Given the description of an element on the screen output the (x, y) to click on. 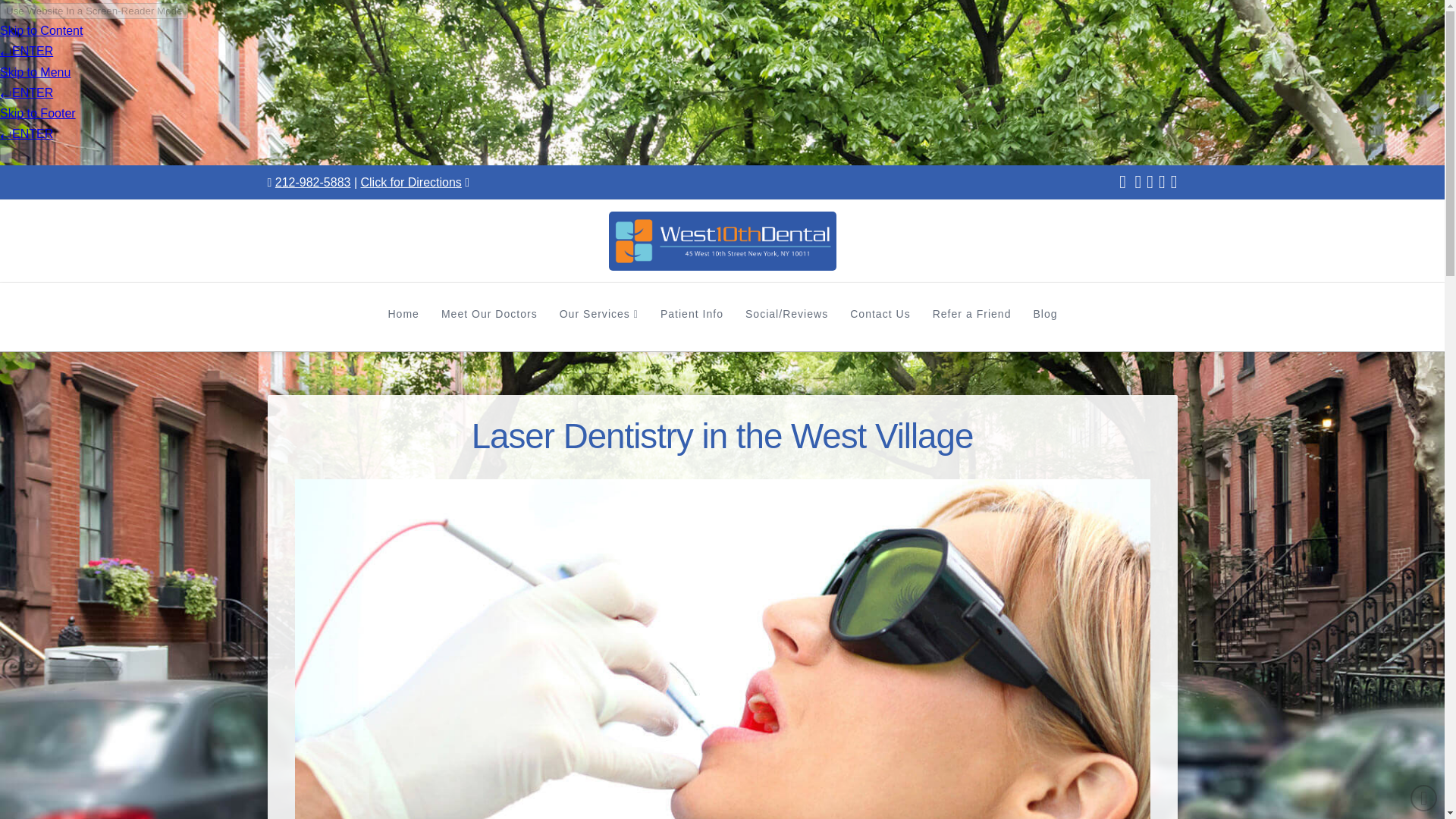
Directions (410, 182)
Phone Number (312, 182)
Contact Us (879, 316)
Back to Top (1423, 797)
Our Services (598, 316)
212-982-5883 (312, 182)
Patient Info (691, 316)
Refer a Friend (971, 316)
Click for Directions (410, 182)
Meet Our Doctors (488, 316)
